Given the description of an element on the screen output the (x, y) to click on. 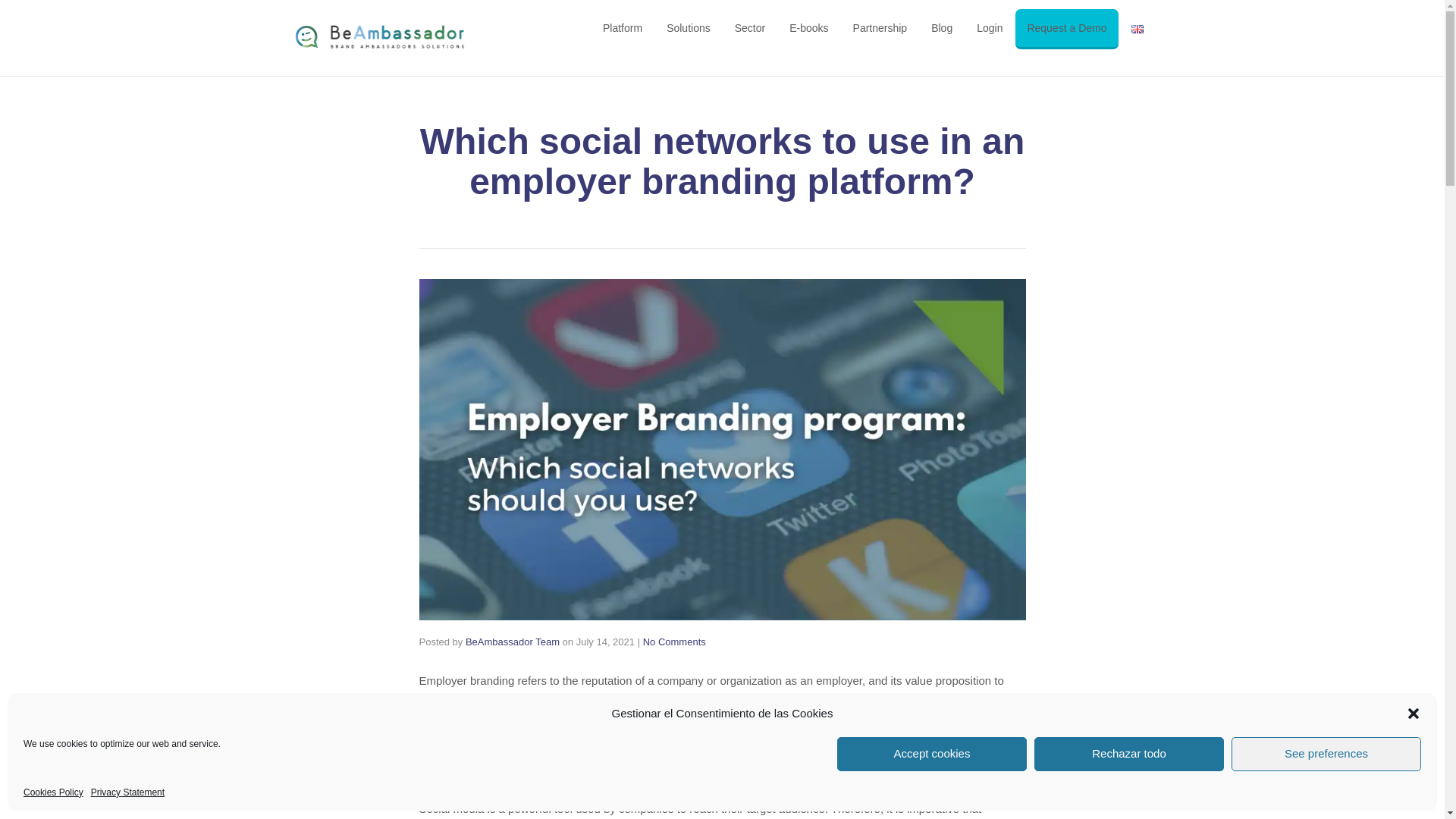
Posts by BeAmbassador Team (512, 641)
